Given the description of an element on the screen output the (x, y) to click on. 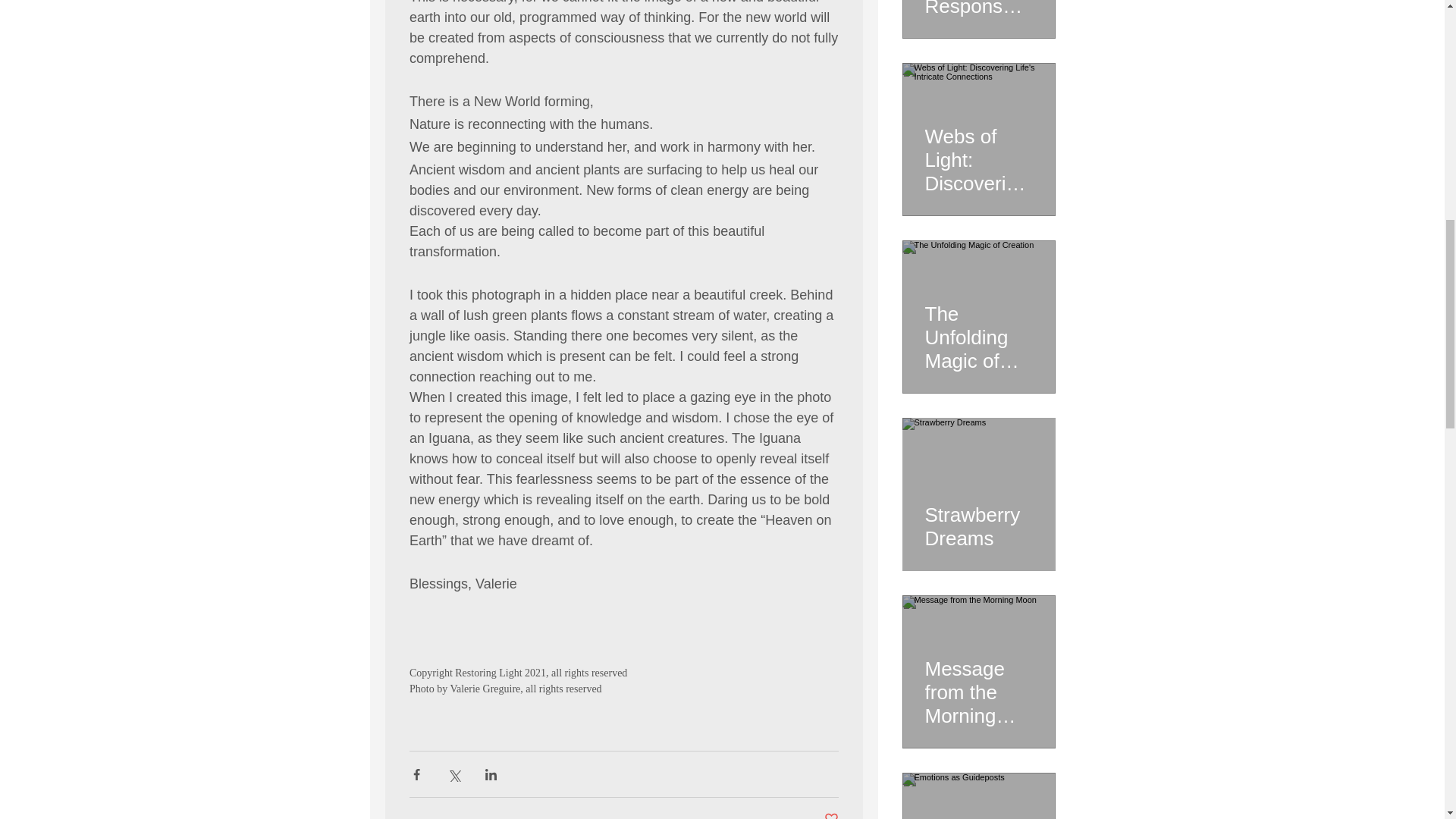
Webs of Light: Discovering Life's Intricate Connections (978, 153)
The Unfolding Magic of Creation (978, 331)
Message from the Morning Moon (978, 685)
Post not marked as liked (831, 815)
Calming the Stress Response in the Body (978, 9)
Strawberry Dreams (978, 519)
